Given the description of an element on the screen output the (x, y) to click on. 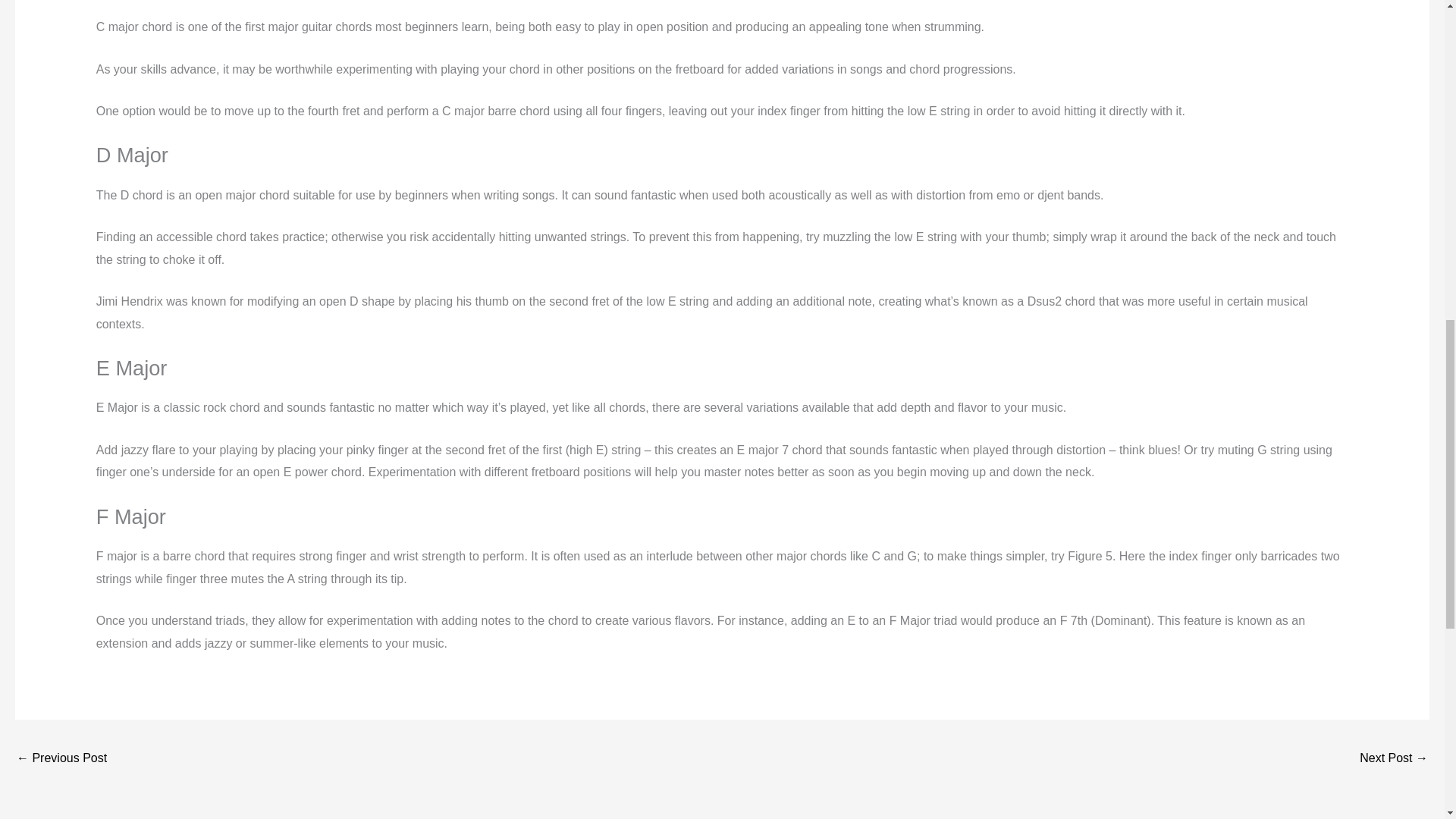
Heavy Metal Music and ADHD (1393, 759)
Soul Music Mix 80s Download (61, 759)
